Given the description of an element on the screen output the (x, y) to click on. 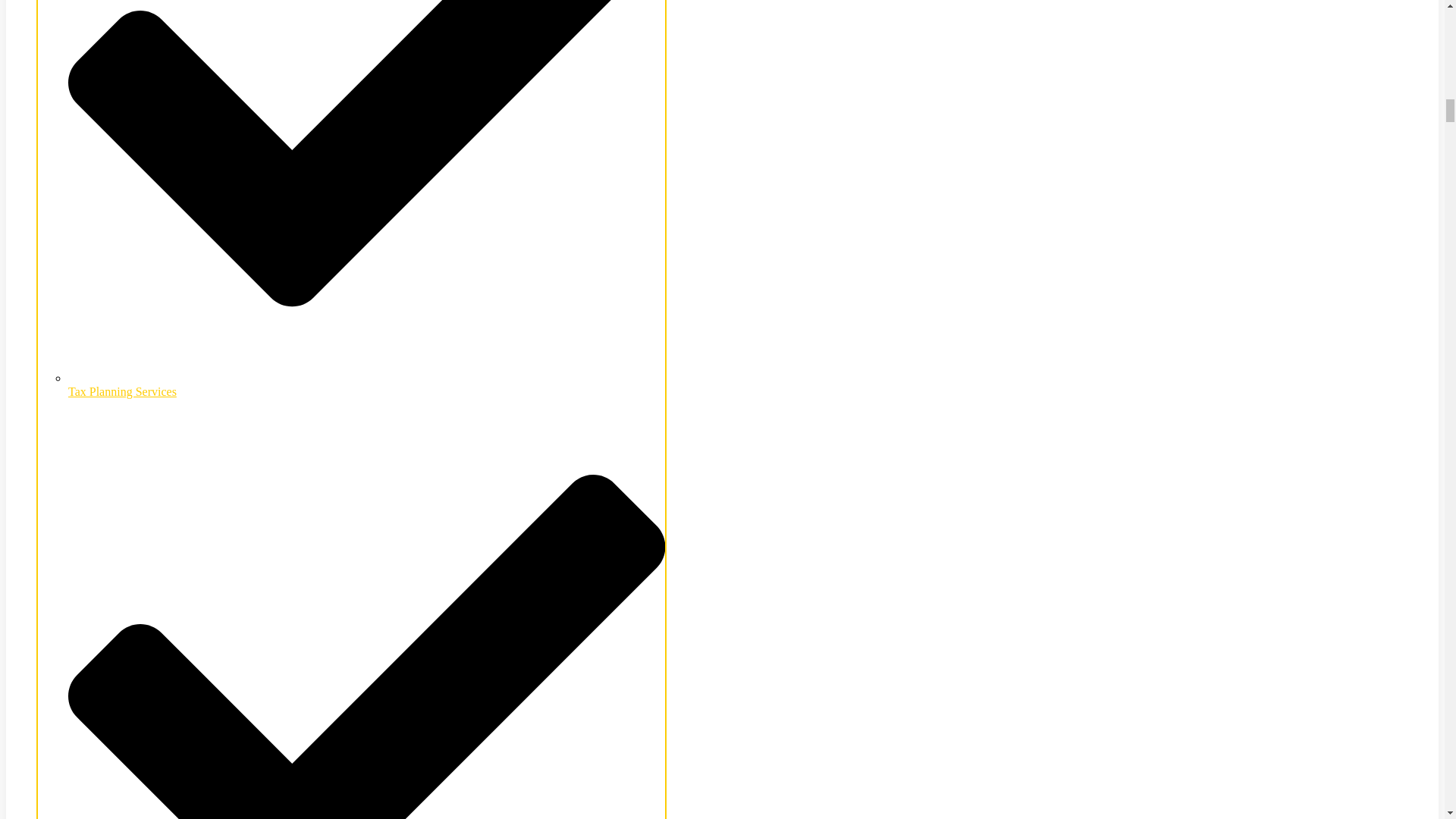
Tax Planning Services (366, 384)
